Given the description of an element on the screen output the (x, y) to click on. 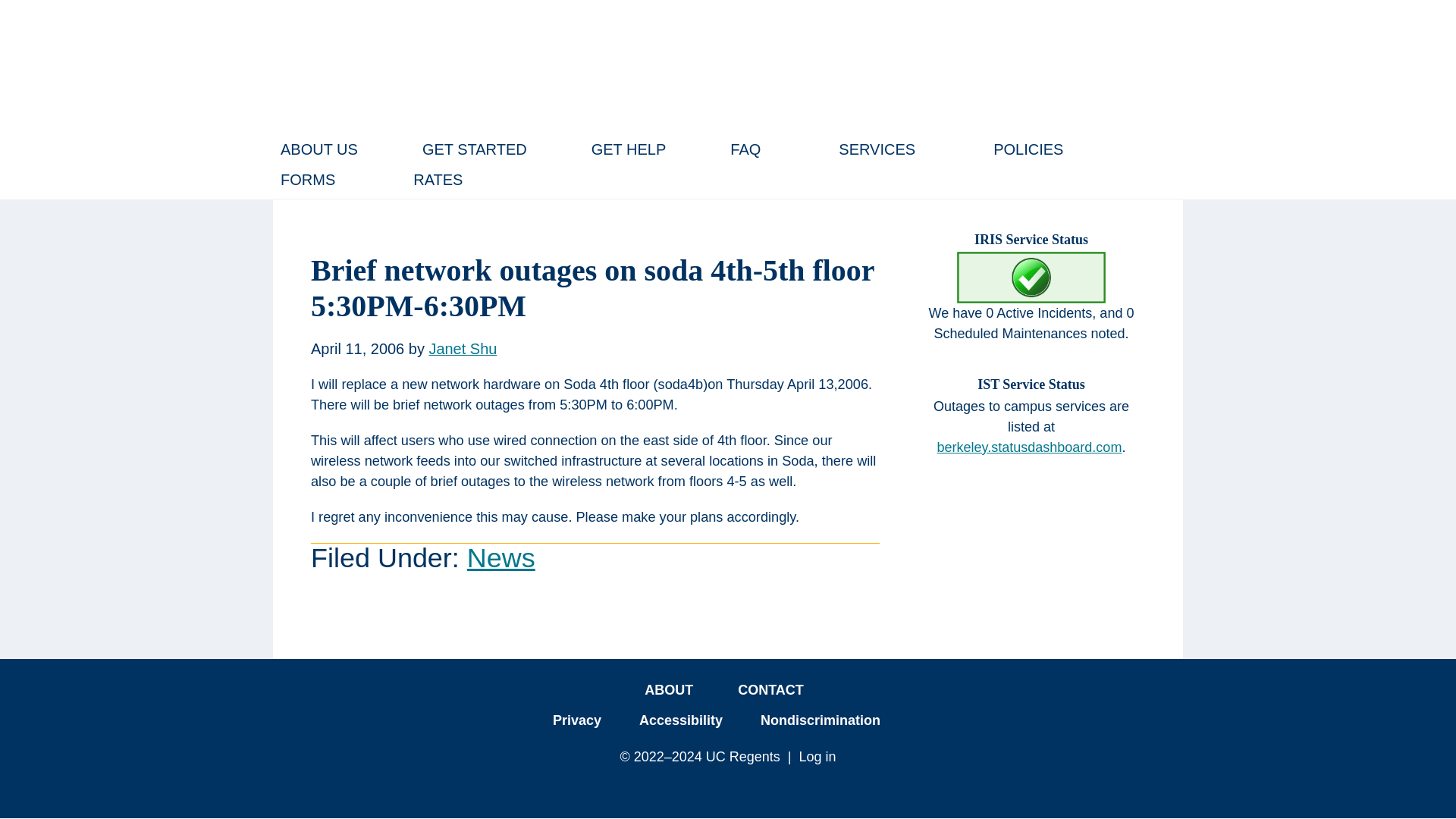
Berkeley Engineering (1041, 13)
SERVICES (883, 149)
Homepage (305, 66)
EECS (1134, 13)
GET HELP (628, 149)
ABOUT US (319, 149)
UC Berkeley (932, 13)
FORMS (314, 179)
IRIS (305, 66)
FAQ (751, 149)
